Given the description of an element on the screen output the (x, y) to click on. 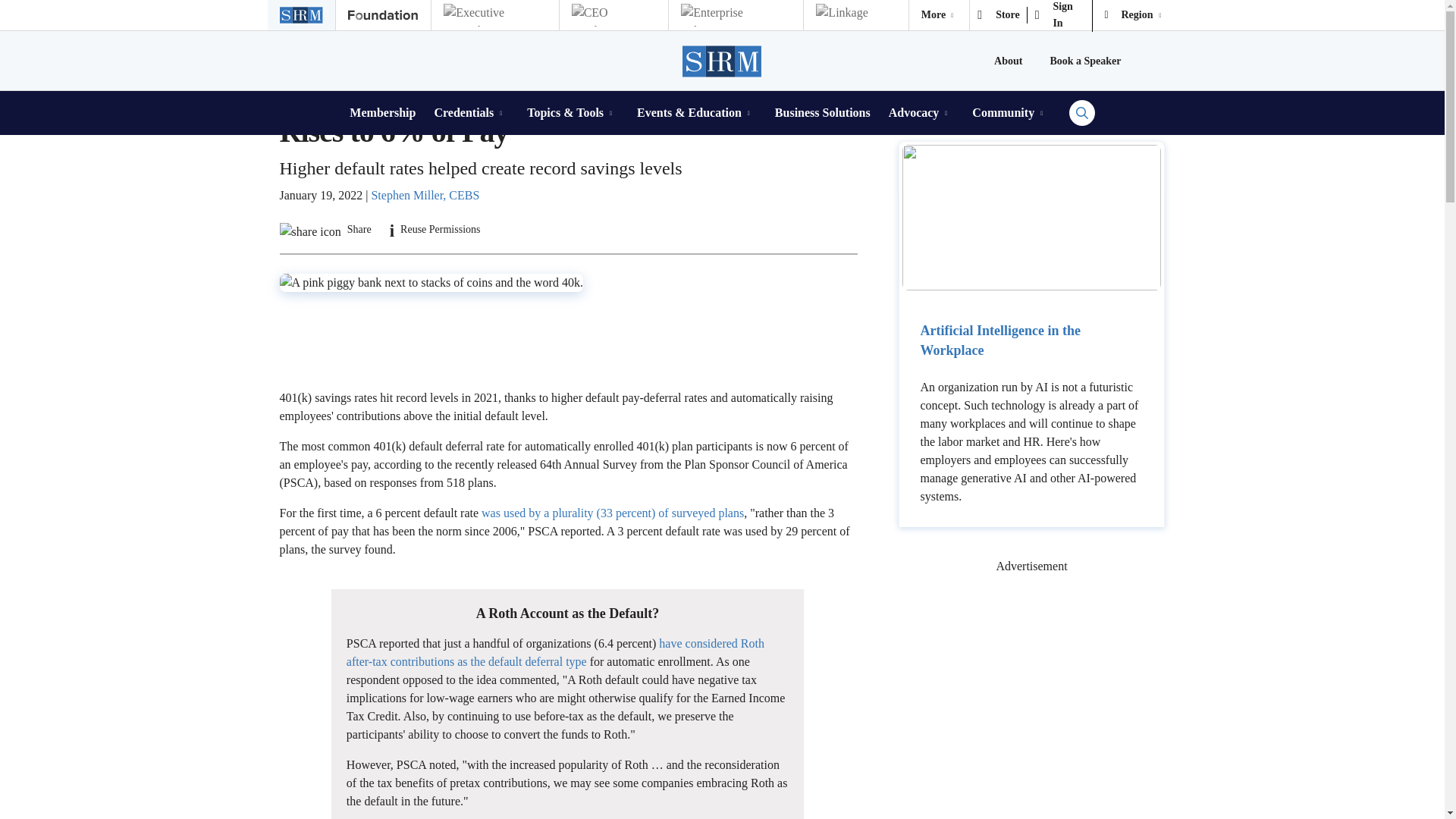
Sign In (1060, 15)
store (998, 15)
CEO Academy (613, 15)
Store (998, 15)
logo image (938, 15)
Book a Speaker (1085, 61)
SHRM (722, 60)
Linkage (855, 15)
About (1008, 61)
About (1008, 61)
